Given the description of an element on the screen output the (x, y) to click on. 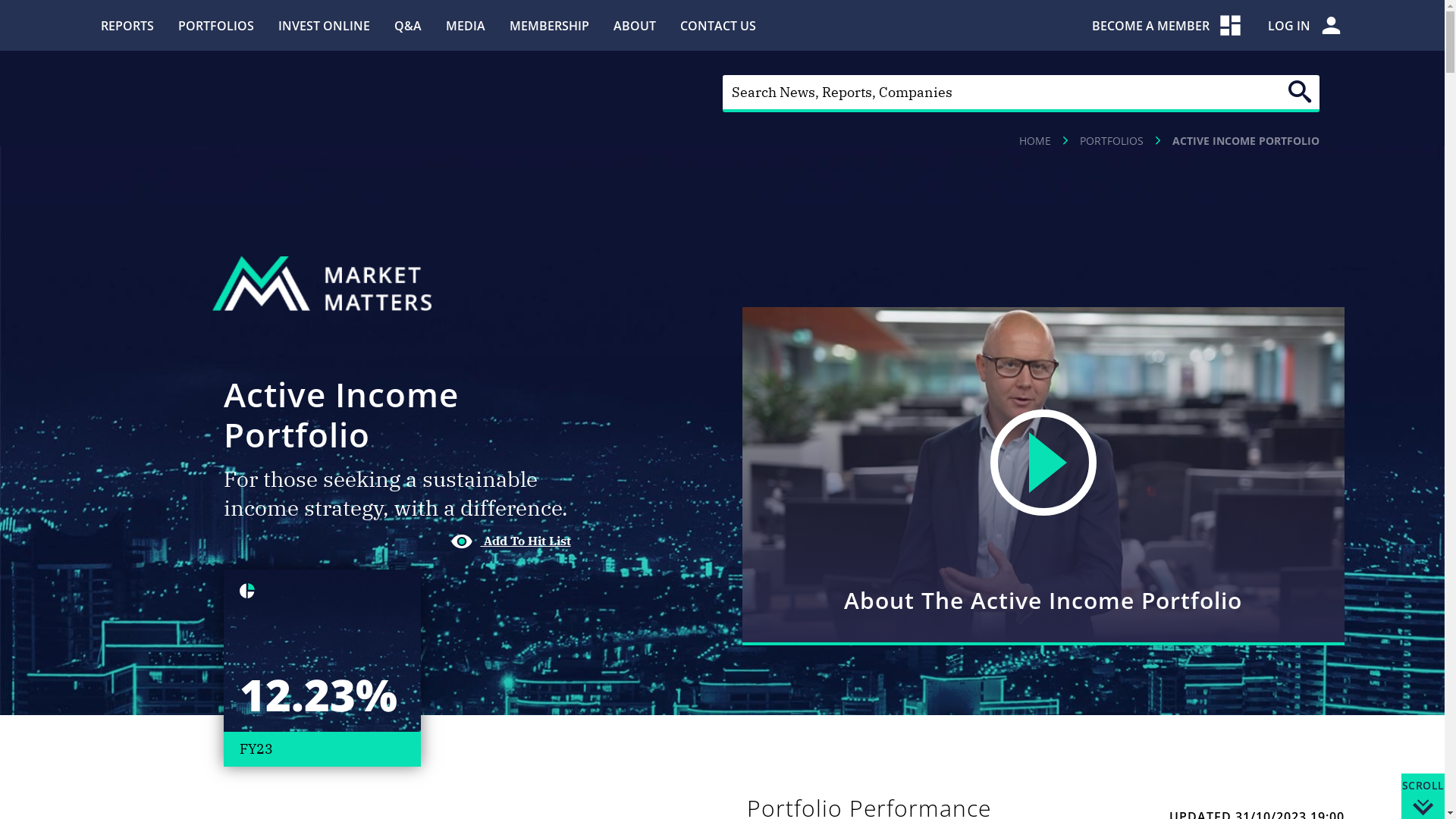
LOG IN Element type: text (1305, 25)
Q&A Element type: text (407, 24)
Search Field Element type: hover (1019, 93)
Search Submit Element type: hover (1299, 91)
ABOUT Element type: text (633, 24)
PORTFOLIOS Element type: text (215, 24)
HOME Element type: text (1035, 140)
PORTFOLIOS Element type: text (1111, 140)
Add To Hit List Element type: text (510, 540)
CONTACT US Element type: text (717, 24)
12.23%
FY23 Element type: text (321, 667)
About The Active Income Portfolio Element type: text (1042, 476)
REPORTS Element type: text (126, 24)
BECOME A MEMBER Element type: text (1167, 25)
MEDIA Element type: text (465, 24)
INVEST ONLINE Element type: text (323, 24)
MEMBERSHIP Element type: text (549, 24)
